Given the description of an element on the screen output the (x, y) to click on. 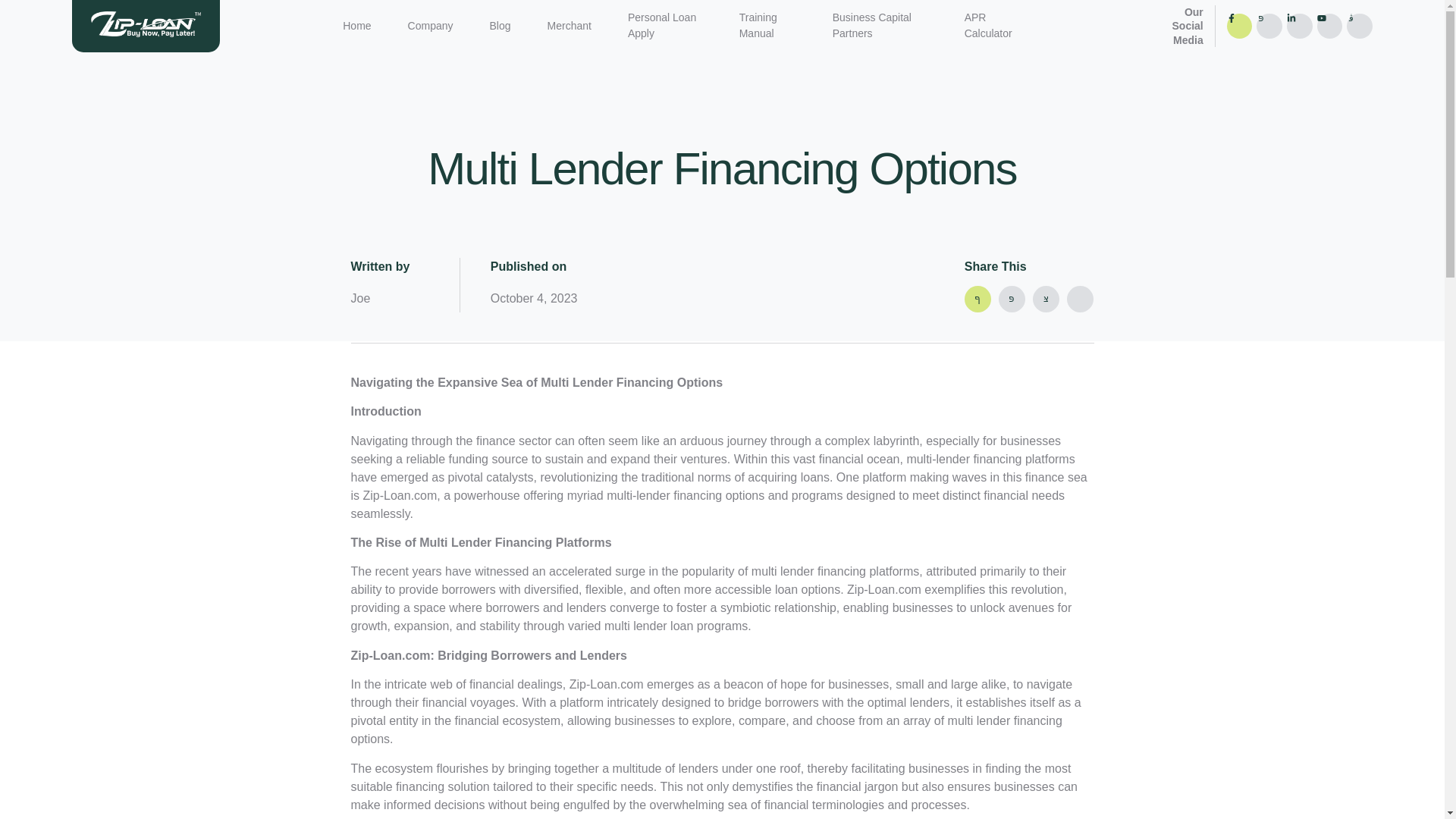
Business Capital Partners (880, 25)
Personal Loan Apply (664, 25)
APR Calculator (991, 25)
Training Manual (767, 25)
Blog (499, 25)
Home (356, 25)
Merchant (568, 25)
Company (430, 25)
